Given the description of an element on the screen output the (x, y) to click on. 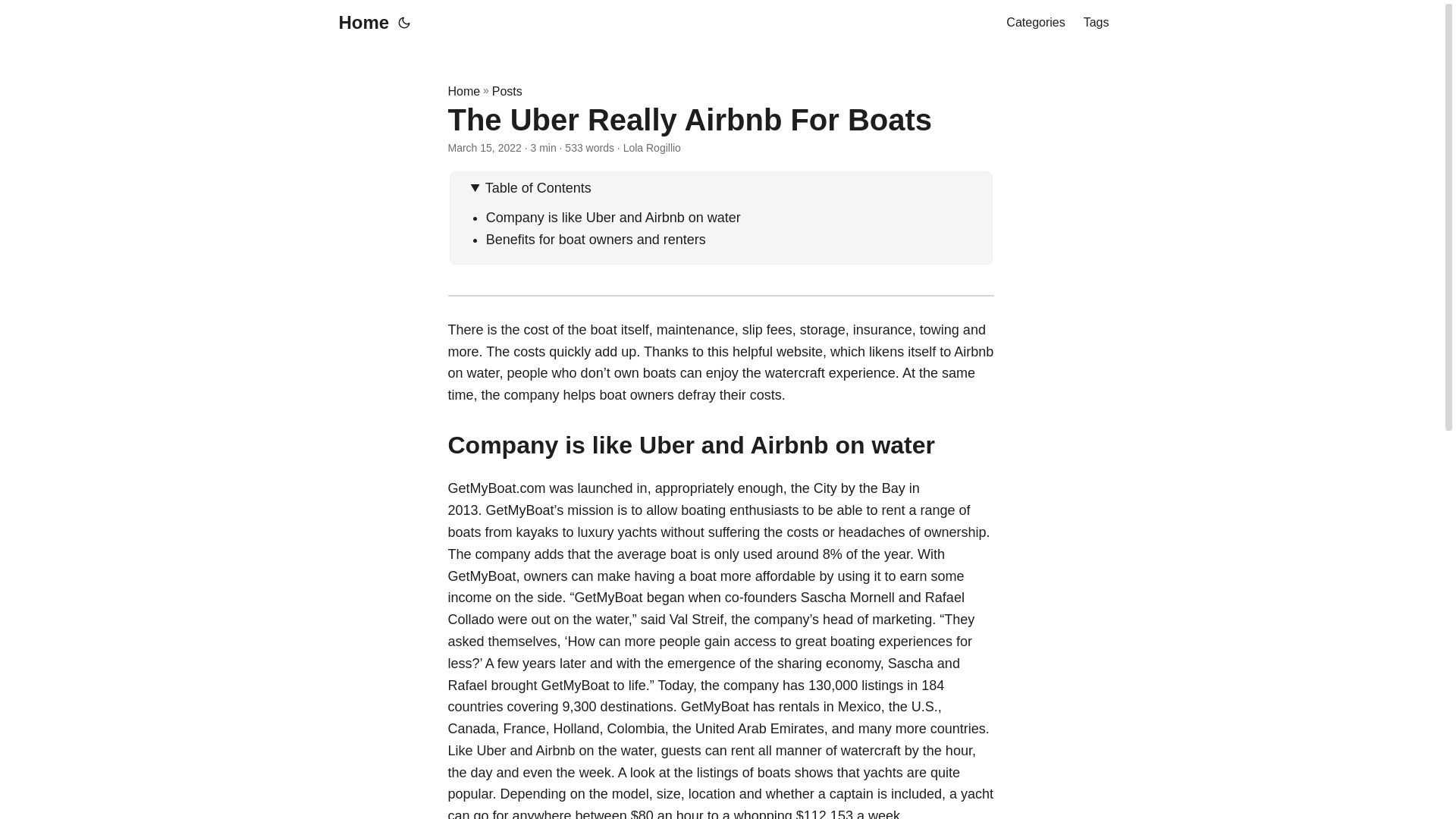
Home (463, 91)
Categories (1035, 22)
Home (359, 22)
Benefits for boat owners and renters (596, 239)
Company is like Uber and Airbnb on water (613, 217)
Posts (507, 91)
Categories (1035, 22)
